Given the description of an element on the screen output the (x, y) to click on. 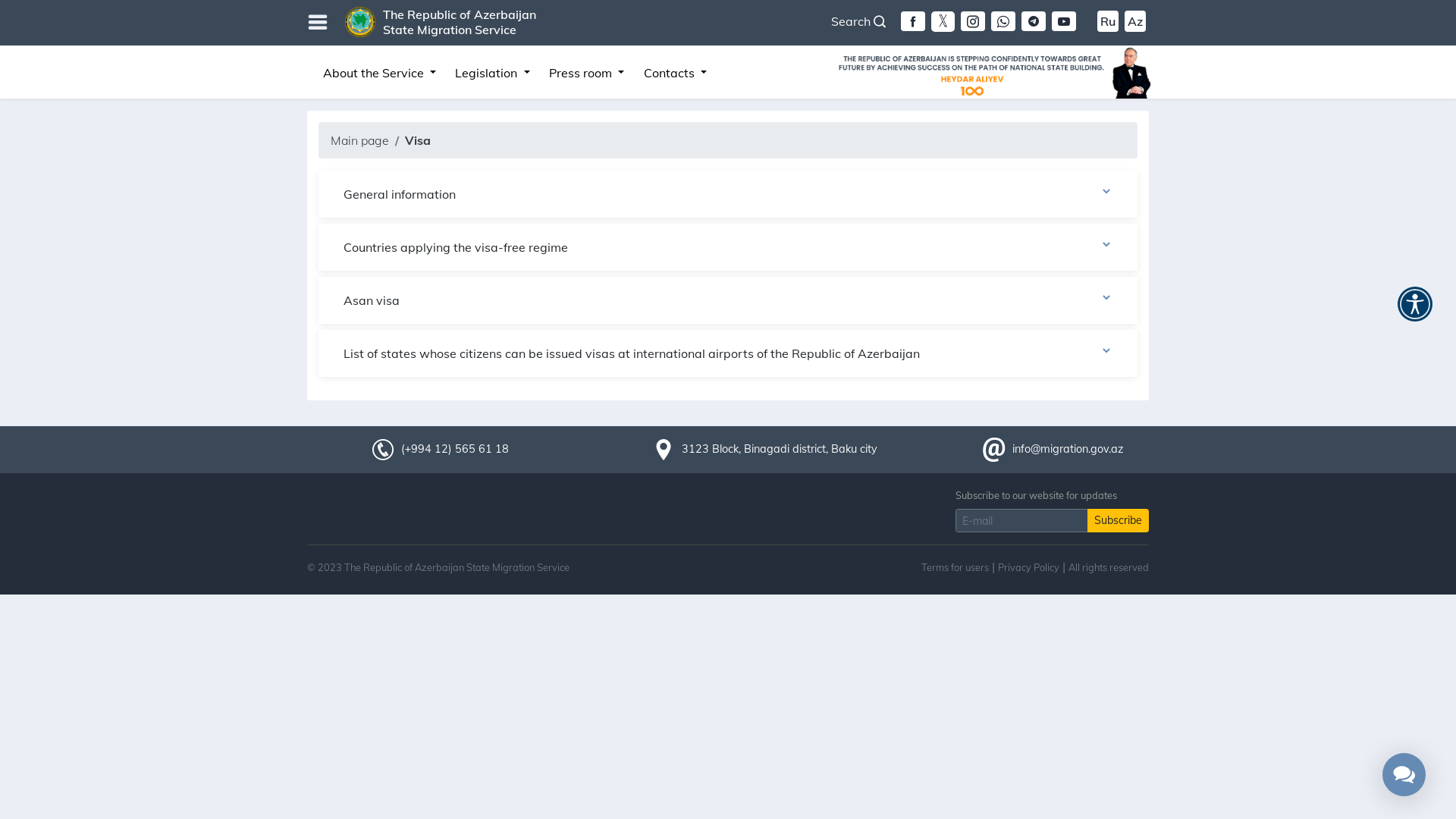
Main page Element type: text (359, 140)
info@migration.gov.az Element type: text (1066, 448)
Ru Element type: text (1107, 20)
Press room Element type: text (586, 72)
Search Element type: text (858, 20)
Privacy Policy Element type: text (1028, 566)
Terms for users Element type: text (954, 566)
The Republic of Azerbaijan
State Migration Service Element type: text (459, 21)
3123 Block, Binagadi district, Baku city Element type: text (778, 448)
General information Element type: text (727, 193)
Az Element type: text (1134, 20)
About the Service Element type: text (379, 72)
Asan visa Element type: text (727, 299)
Legislation Element type: text (492, 72)
Countries applying the visa-free regime Element type: text (727, 246)
Subscribe Element type: text (1117, 520)
(+994 12) 565 61 18 Element type: text (454, 448)
Visa Element type: text (417, 140)
Contacts Element type: text (674, 72)
